Given the description of an element on the screen output the (x, y) to click on. 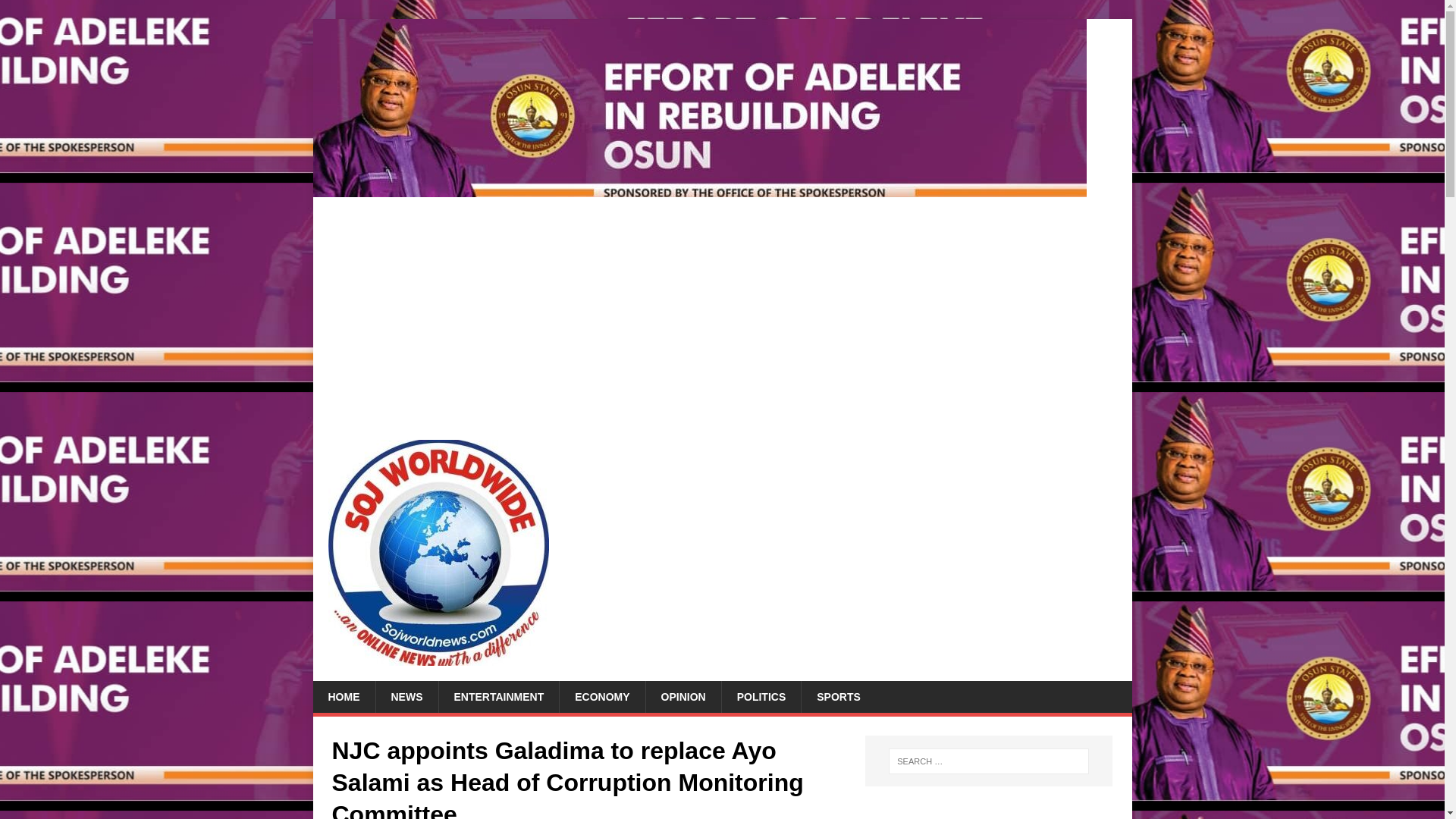
SPORTS (838, 696)
POLITICS (761, 696)
OPINION (682, 696)
ECONOMY (602, 696)
HOME (343, 696)
NEWS (406, 696)
an ONLINE NEWS with a difference  (699, 188)
ENTERTAINMENT (498, 696)
Search (56, 11)
